Given the description of an element on the screen output the (x, y) to click on. 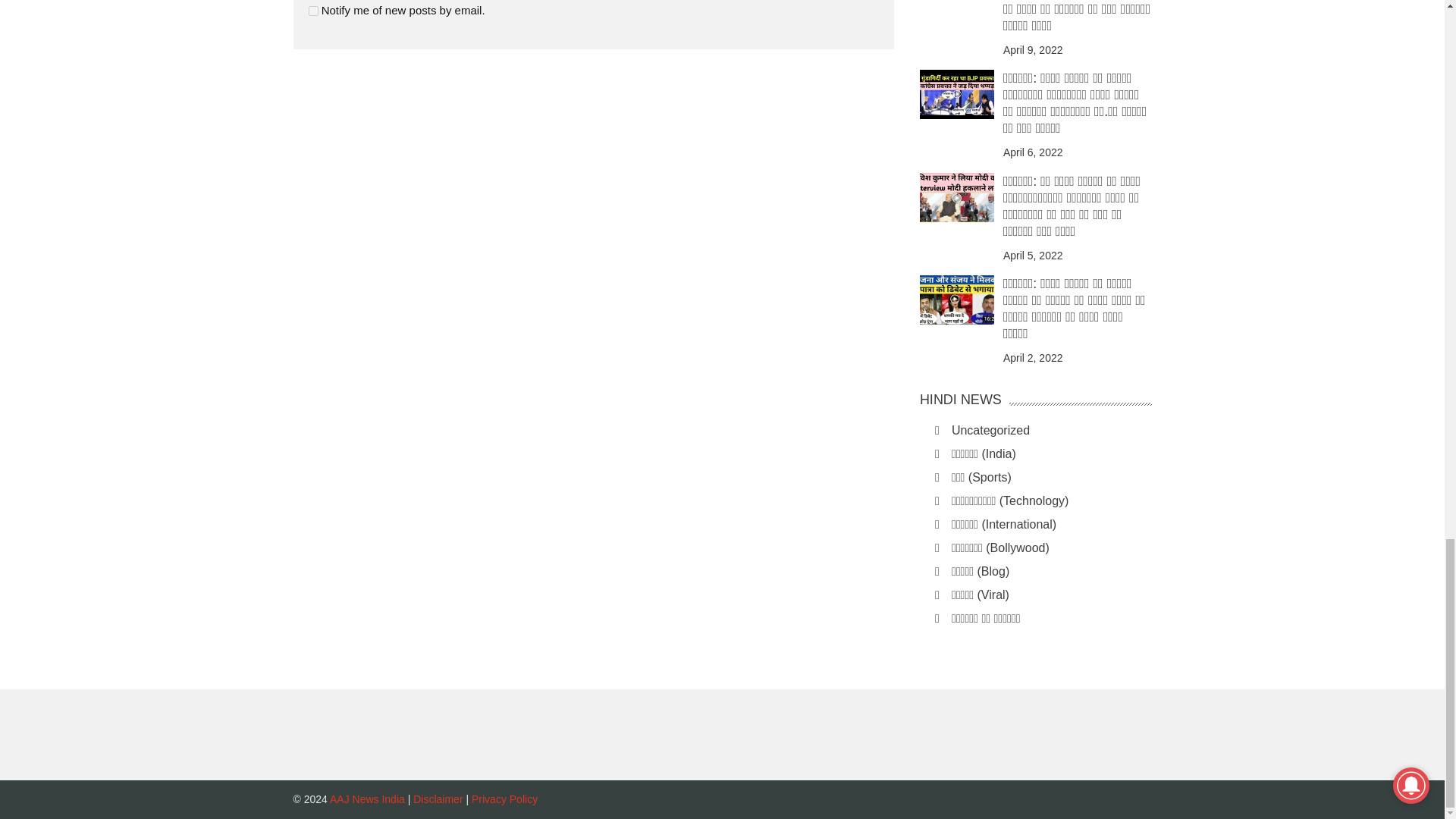
subscribe (312, 10)
